Given the description of an element on the screen output the (x, y) to click on. 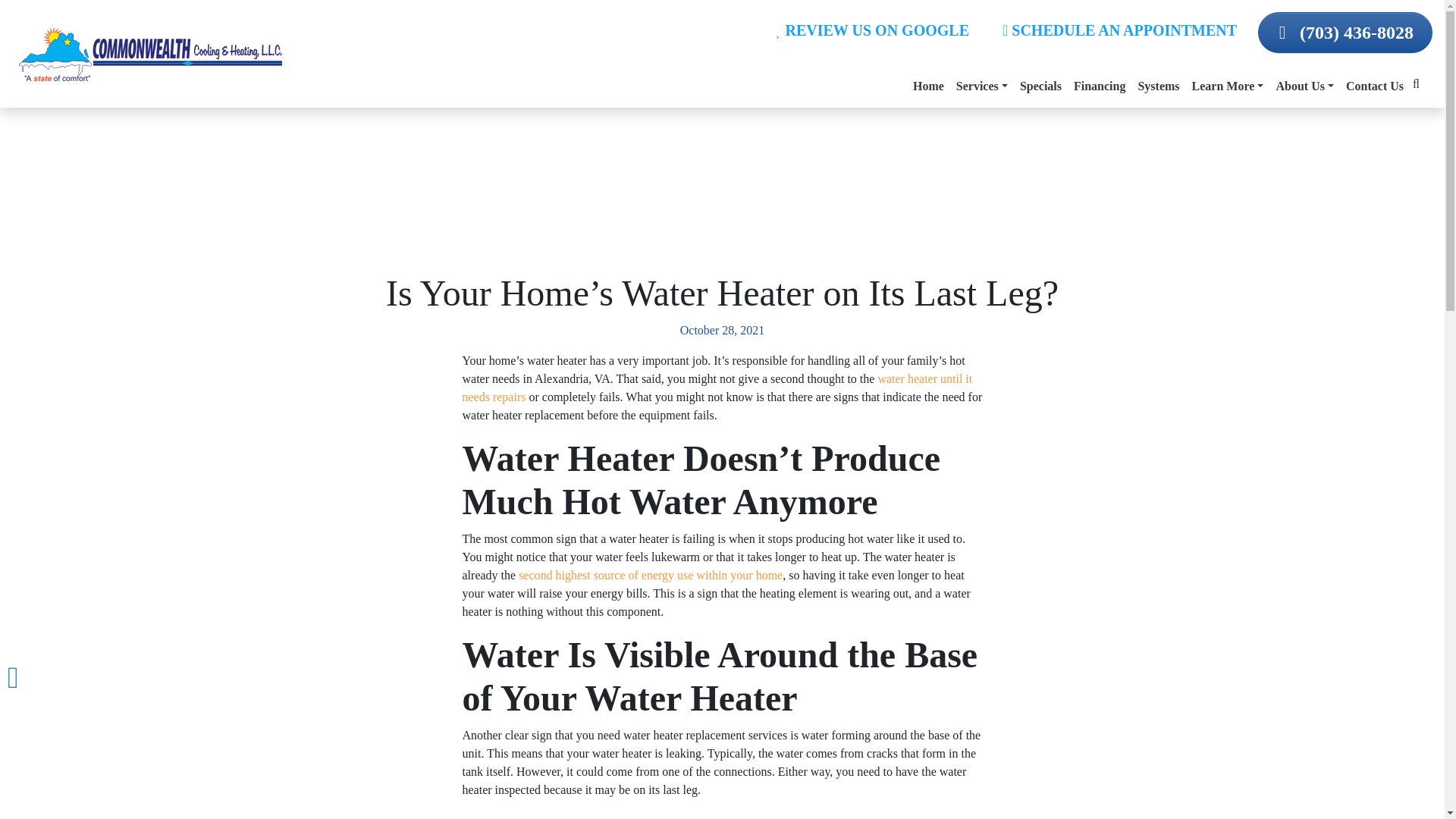
Learn More (1227, 86)
REVIEW US ON GOOGLE (872, 30)
Home (928, 86)
second highest source of energy use within your home (650, 574)
Systems (1158, 86)
water heater until it needs repairs (717, 387)
Contact Us (1374, 86)
Services (981, 86)
About Us (1304, 86)
Financing (1099, 86)
SCHEDULE AN APPOINTMENT (1119, 30)
Specials (1040, 86)
